Given the description of an element on the screen output the (x, y) to click on. 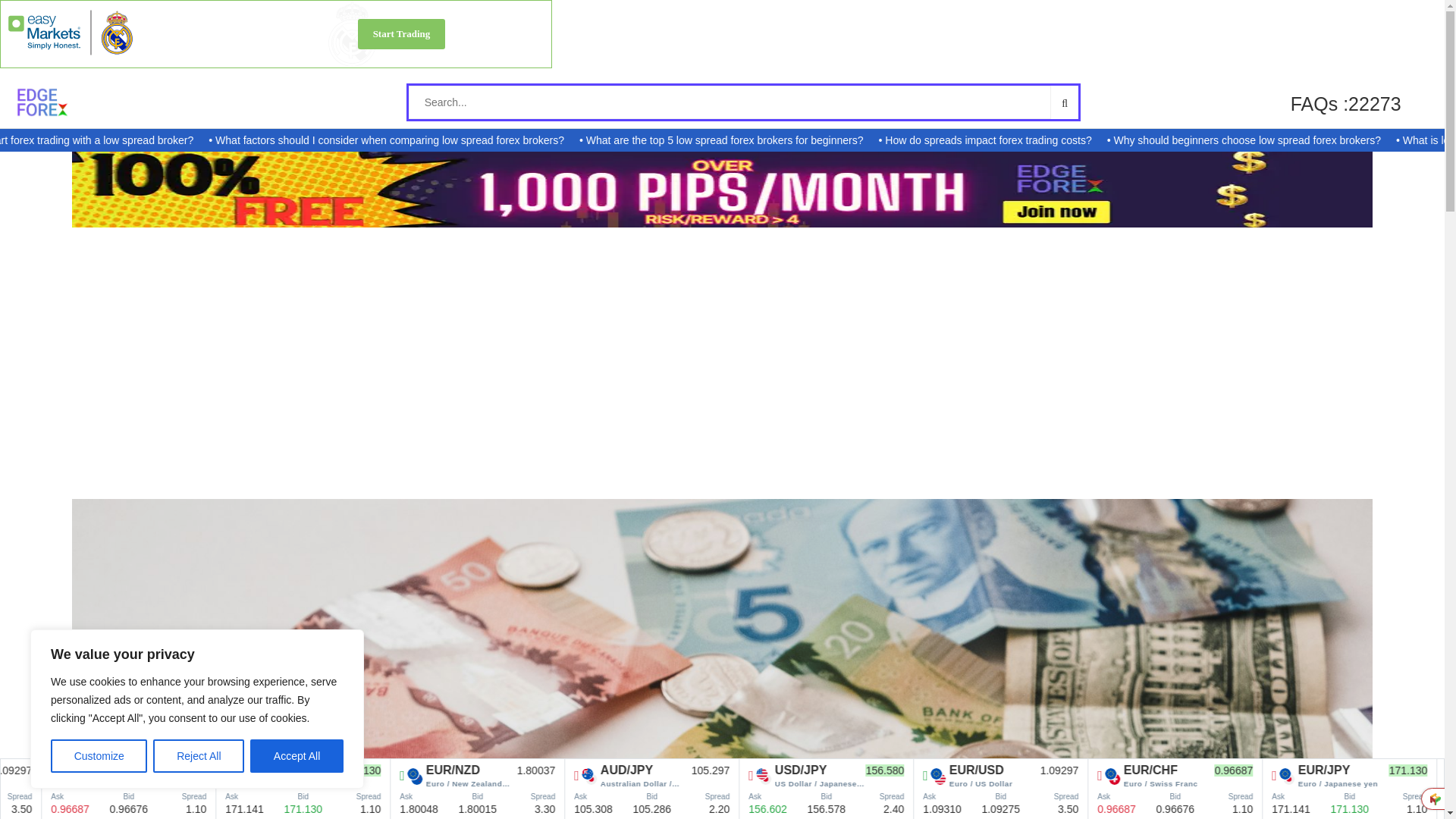
How do spreads impact forex trading costs? (1045, 140)
Reject All (198, 756)
What are the top 5 low spread forex brokers for beginners? (782, 140)
Why should beginners choose low spread forex brokers? (1302, 140)
Customize (98, 756)
How can I start forex trading with a low spread broker? (128, 140)
Accept All (296, 756)
